Given the description of an element on the screen output the (x, y) to click on. 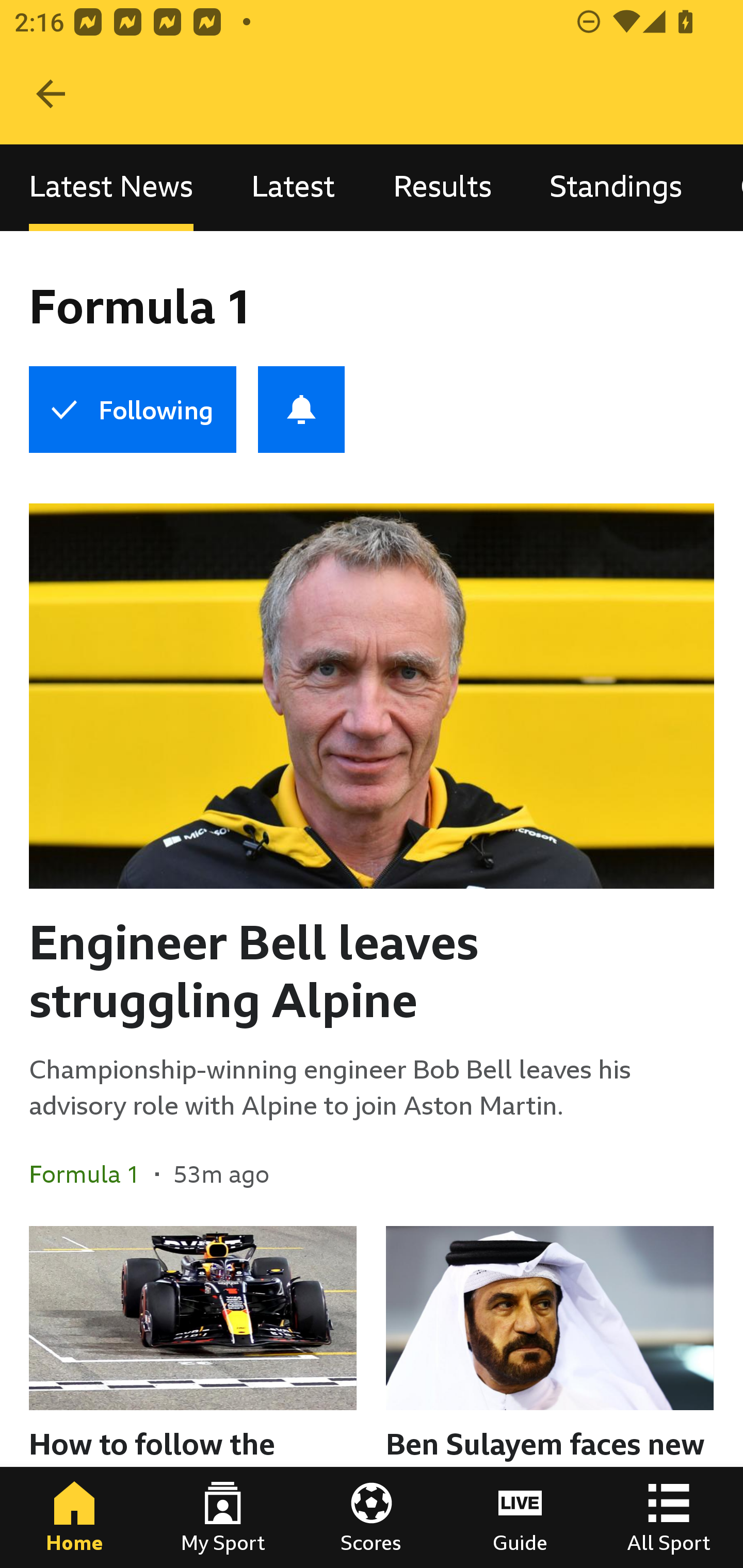
Navigate up (50, 93)
Latest News, selected Latest News (111, 187)
Latest (293, 187)
Results (442, 187)
Standings (615, 187)
Following Formula 1 Following (132, 409)
Push notifications for Formula 1 (300, 409)
My Sport (222, 1517)
Scores (371, 1517)
Guide (519, 1517)
All Sport (668, 1517)
